Given the description of an element on the screen output the (x, y) to click on. 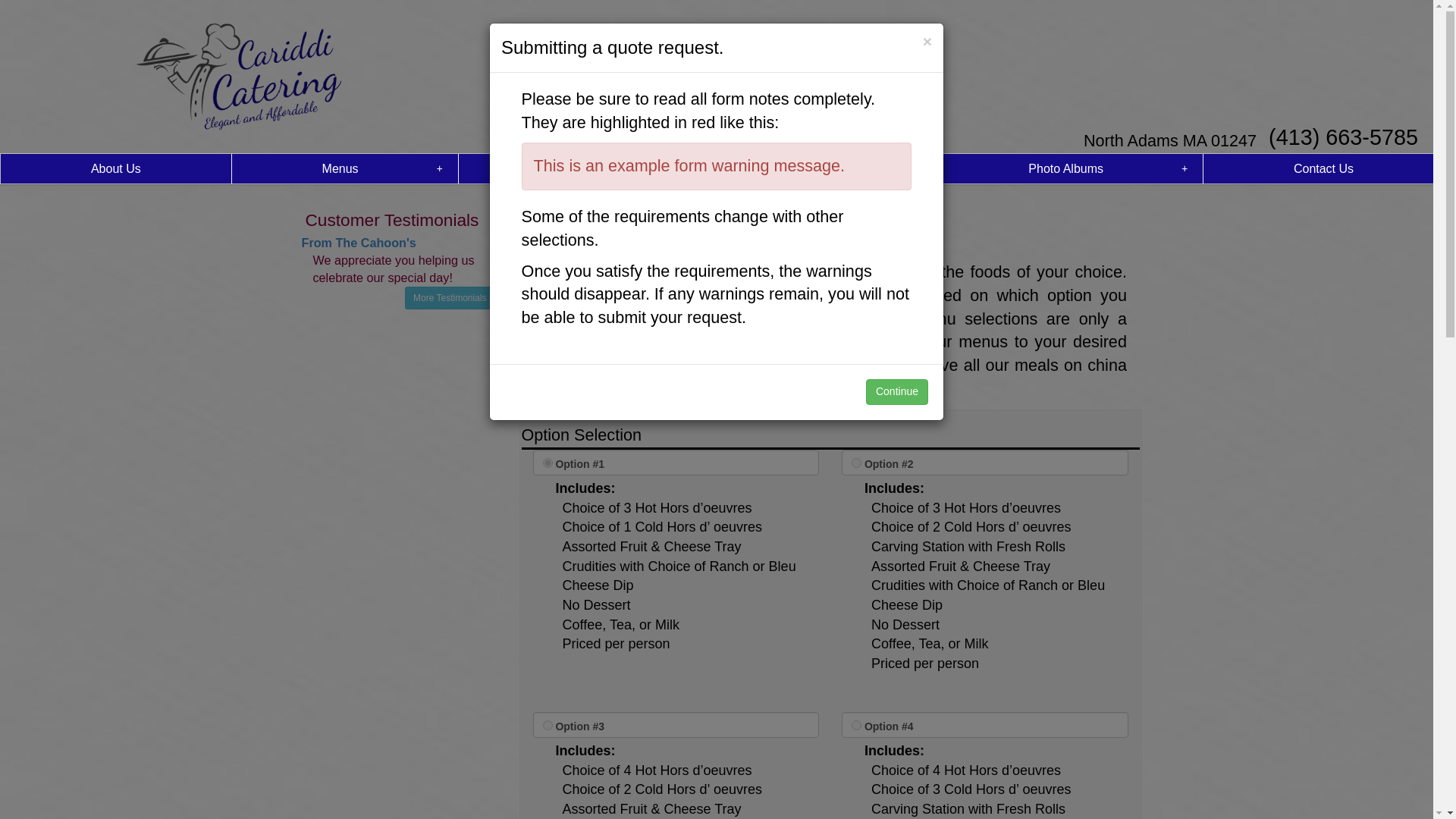
FAQ's (830, 168)
4 (856, 725)
About Us (116, 168)
More Testimonials (449, 297)
Planning Forms (590, 168)
1 (548, 462)
FAQ's (830, 168)
Planning Forms (590, 168)
Photo Albums (1069, 168)
Menus (344, 168)
From The Cahoon's (358, 242)
3 (548, 725)
Contact Us (1324, 168)
Continue (897, 391)
Contact Us (1324, 168)
